Given the description of an element on the screen output the (x, y) to click on. 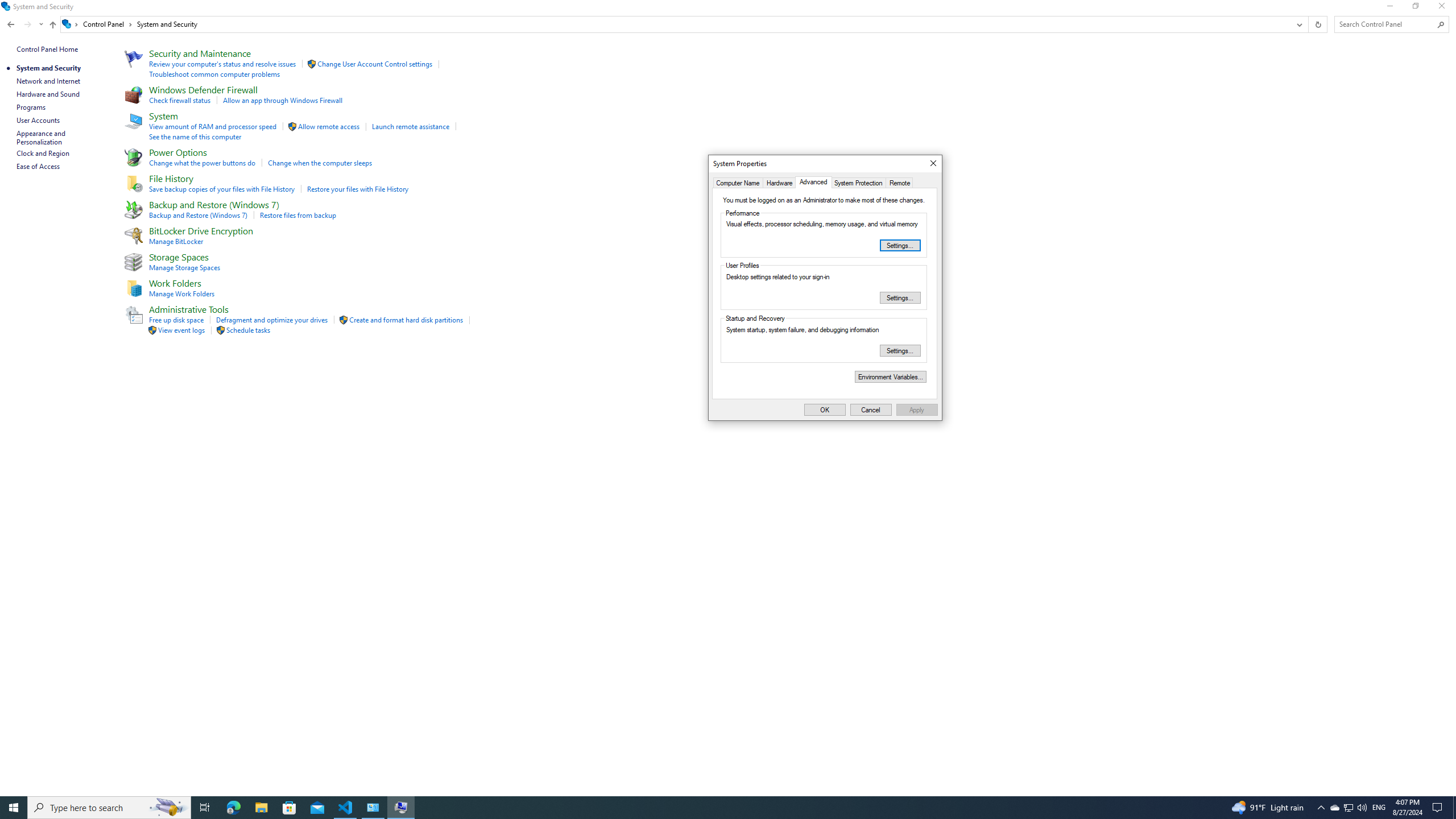
Type here to search (108, 807)
System Remote Settings - 1 running window (400, 807)
Action Center, No new notifications (1333, 807)
Control Panel - 1 running window (1439, 807)
Search highlights icon opens search home window (373, 807)
Q2790: 100% (167, 807)
Start (1361, 807)
Computer Name (13, 807)
Settings... (737, 182)
User Promoted Notification Area (900, 350)
OK (1347, 807)
Apply (824, 409)
Microsoft Edge (917, 409)
Visual Studio Code - 1 running window (233, 807)
